Given the description of an element on the screen output the (x, y) to click on. 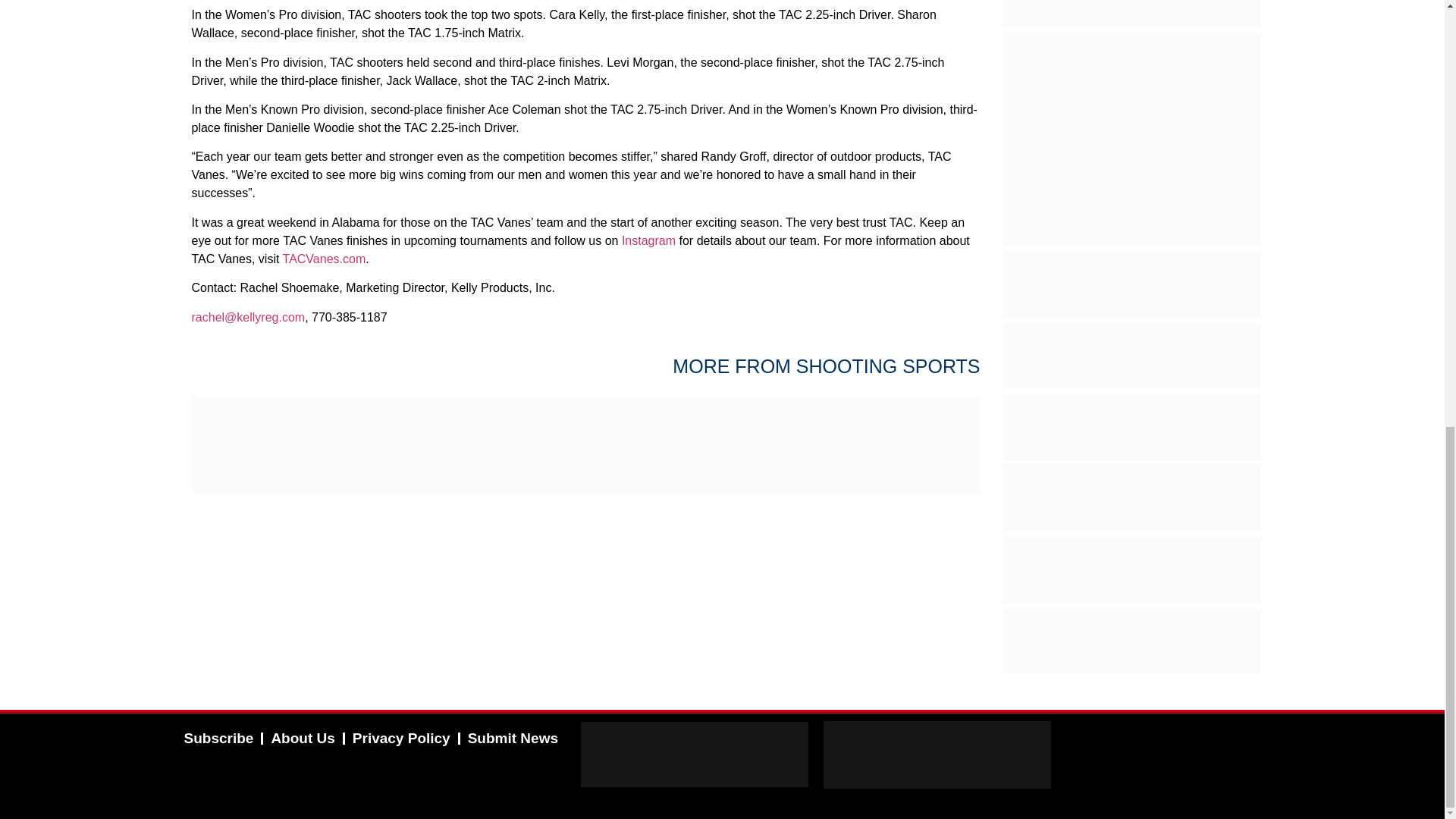
Privacy Policy (401, 738)
SHOOTING SPORTS (887, 365)
Subscribe (218, 738)
About Us (302, 738)
Instagram (648, 240)
TACVanes.com (324, 258)
